Given the description of an element on the screen output the (x, y) to click on. 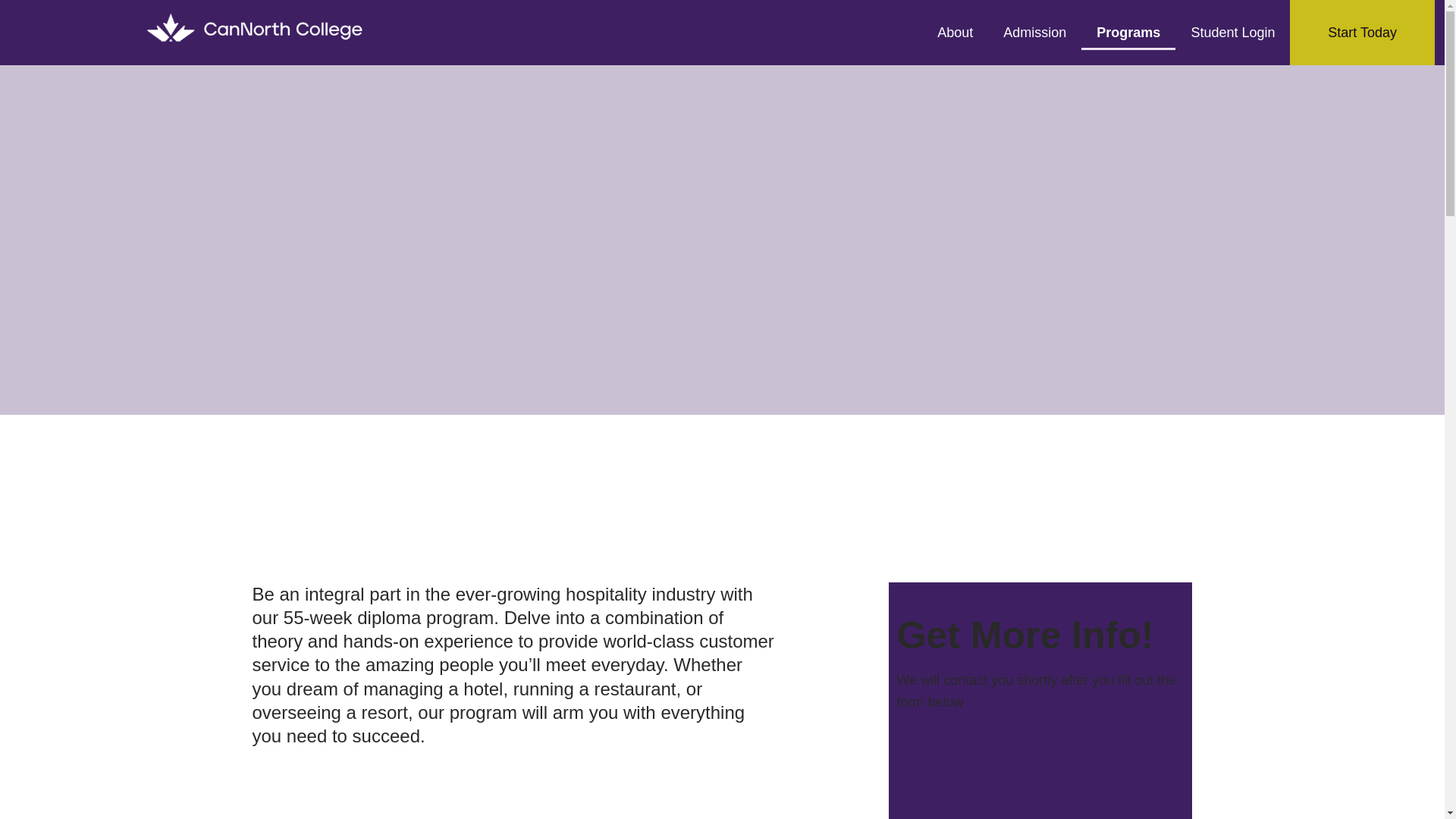
Admission (1034, 32)
general request form (1006, 32)
About (1040, 772)
Programs (954, 32)
